Given the description of an element on the screen output the (x, y) to click on. 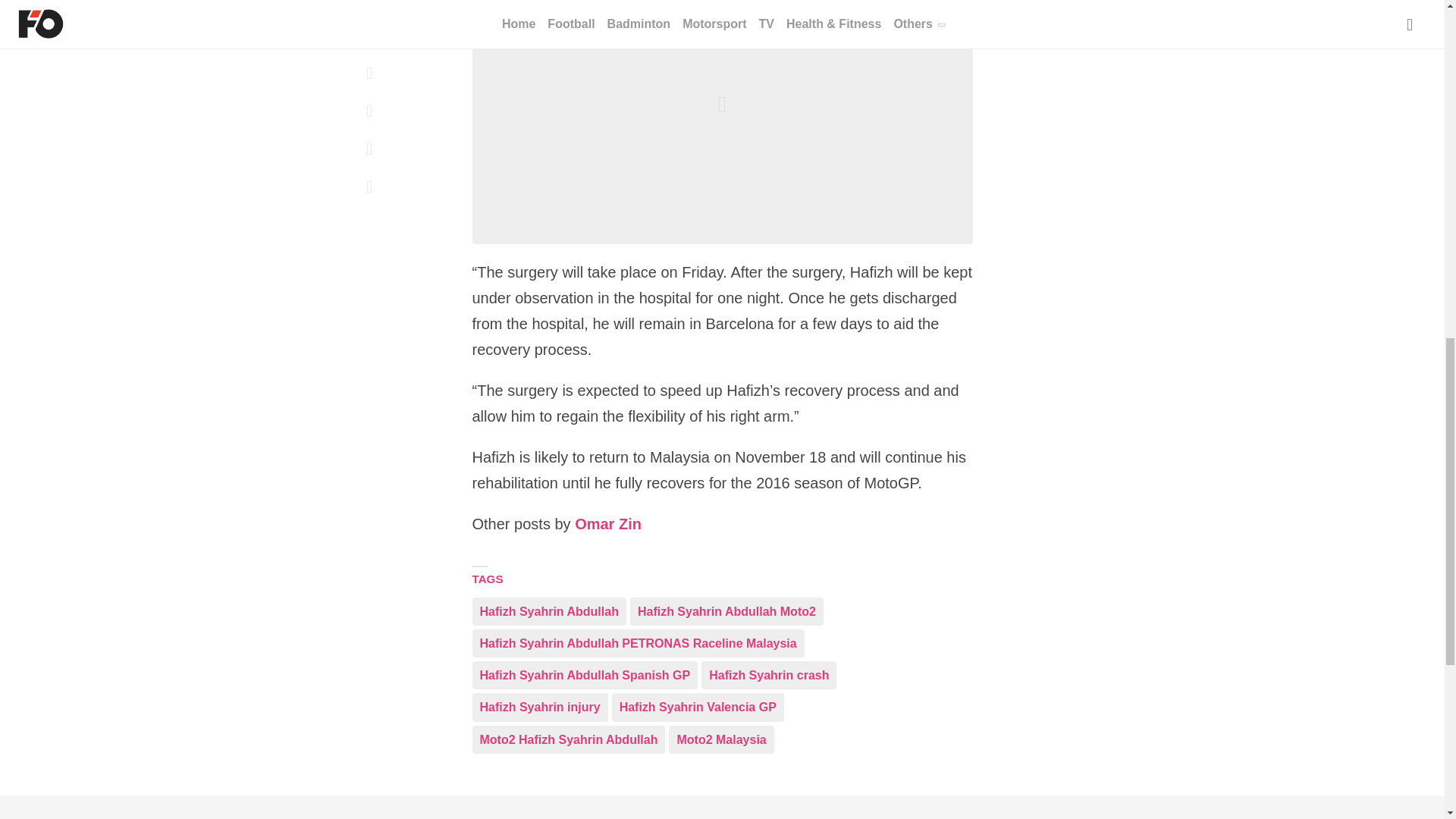
Hafizh Syahrin crash (768, 674)
Posts by Omar Zin (608, 524)
Hafizh Syahrin Valencia GP (697, 706)
Hafizh Syahrin Abdullah Moto2 (727, 611)
Hafizh Syahrin Abdullah Spanish GP (584, 674)
Omar Zin (608, 524)
Hafizh Syahrin Abdullah PETRONAS Raceline Malaysia (637, 643)
Hafizh Syahrin Abdullah (548, 611)
Hafizh Syahrin injury (539, 706)
